Given the description of an element on the screen output the (x, y) to click on. 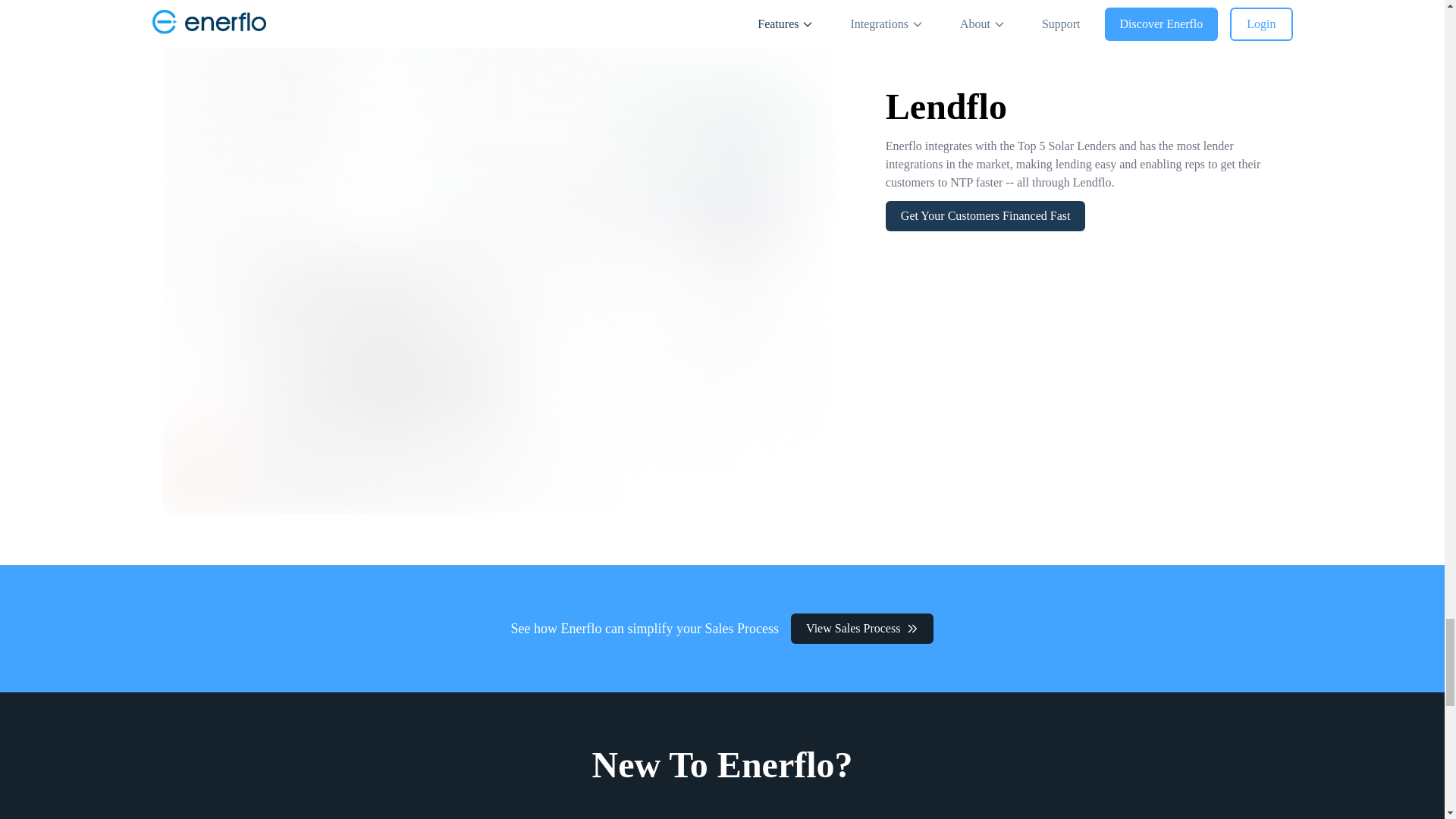
Get Your Customers Financed Fast (985, 215)
View Sales Process (861, 628)
